Given the description of an element on the screen output the (x, y) to click on. 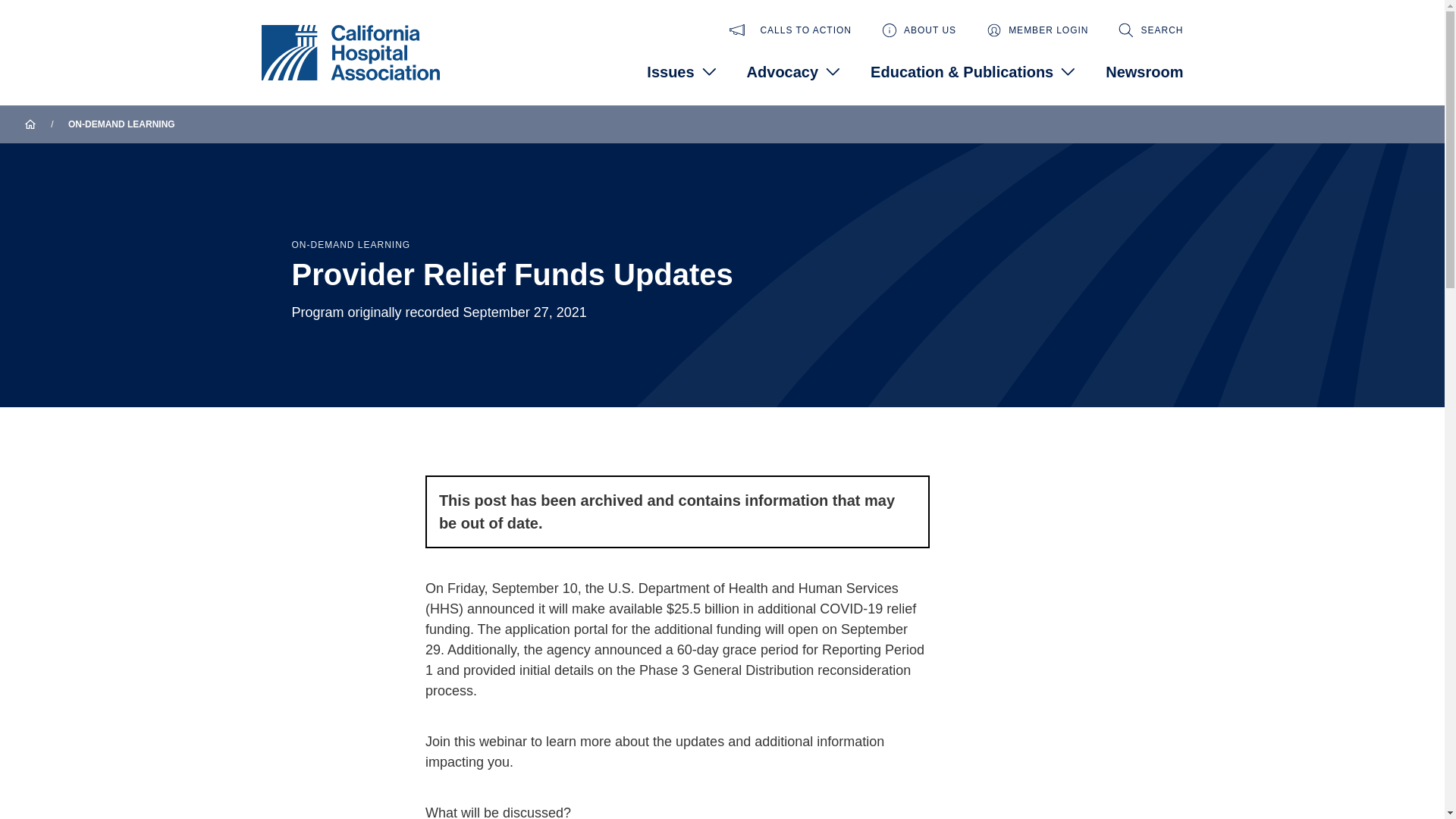
SEARCH (1150, 29)
Newsroom (1143, 71)
Advocacy (793, 71)
CALLS TO ACTION (790, 29)
MEMBER LOGIN (1037, 29)
Issues (681, 71)
ON-DEMAND LEARNING (121, 124)
ABOUT US (919, 29)
